Given the description of an element on the screen output the (x, y) to click on. 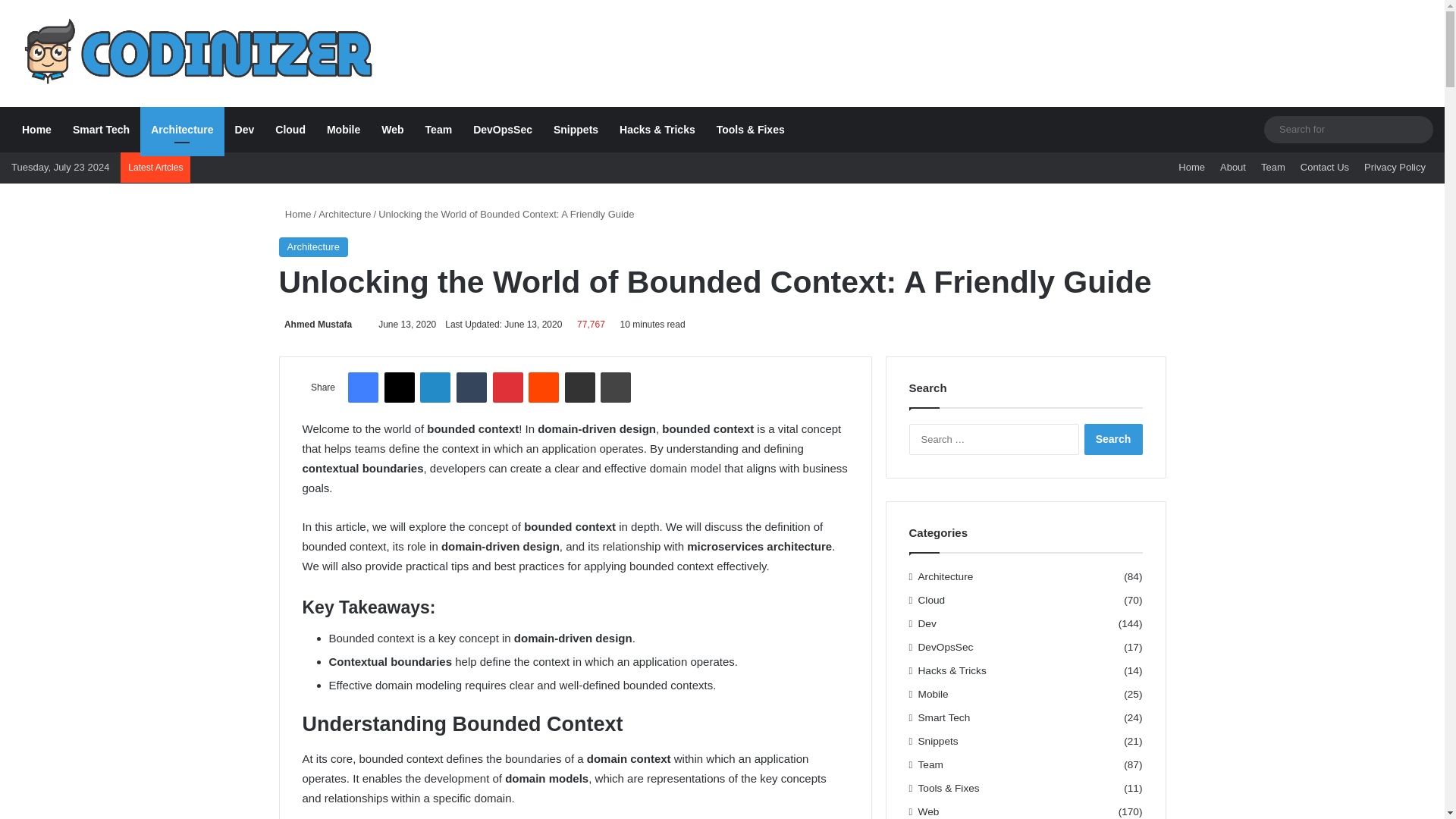
Search (1113, 439)
Codinizer (194, 52)
Snippets (575, 129)
Web (392, 129)
Search (1113, 439)
Cloud (289, 129)
Dev (244, 129)
Team (438, 129)
Search for (1417, 129)
Home (36, 129)
Architecture (181, 129)
Mobile (343, 129)
DevOpsSec (503, 129)
Smart Tech (100, 129)
